Given the description of an element on the screen output the (x, y) to click on. 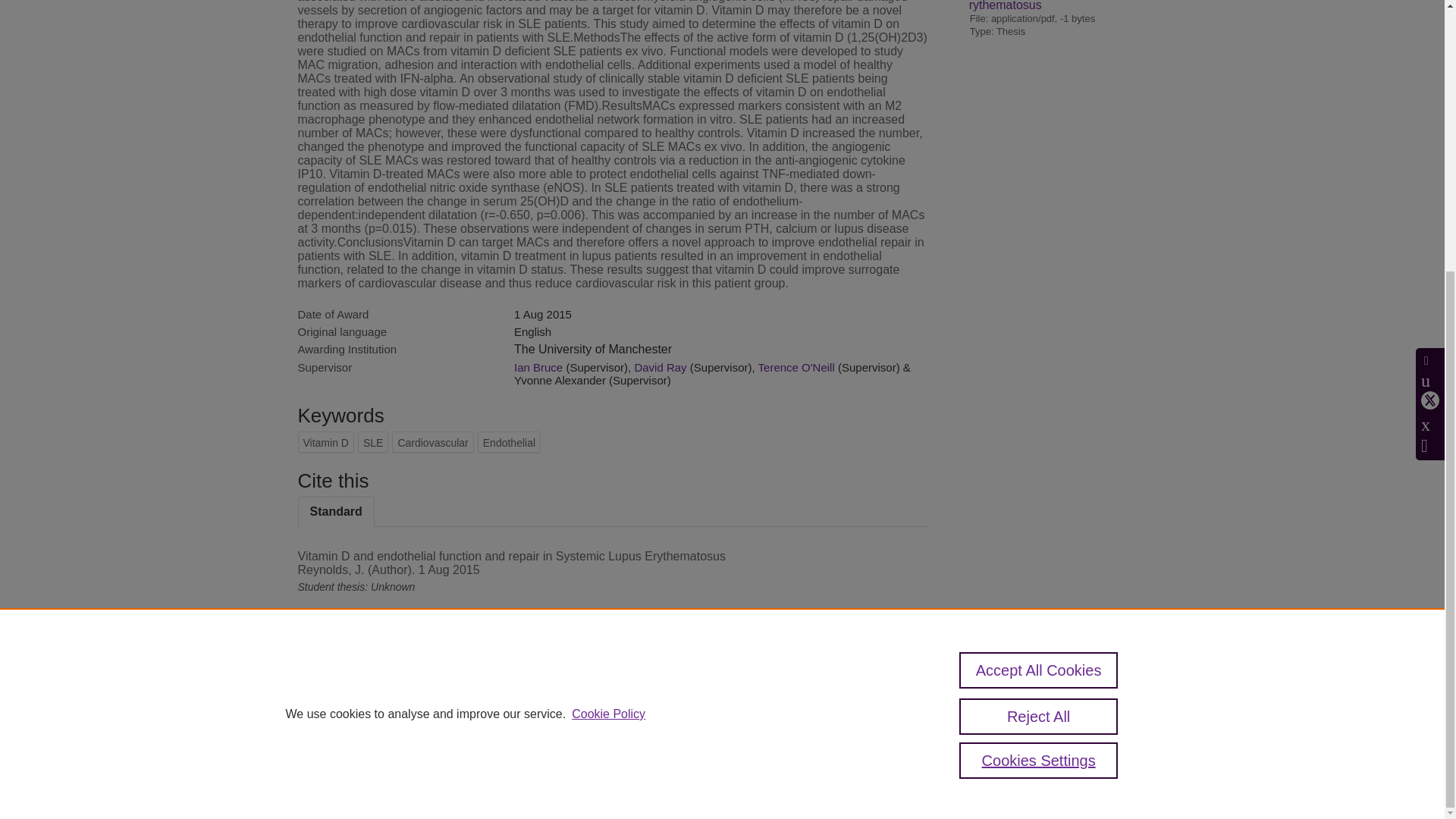
Cookies Settings (334, 767)
use of cookies (796, 747)
Elsevier B.V. (506, 715)
Ian Bruce (537, 367)
Report vulnerability (1001, 747)
Cookie Policy (608, 315)
Scopus (394, 695)
Pure (362, 695)
Terence O'Neill (796, 367)
